Given the description of an element on the screen output the (x, y) to click on. 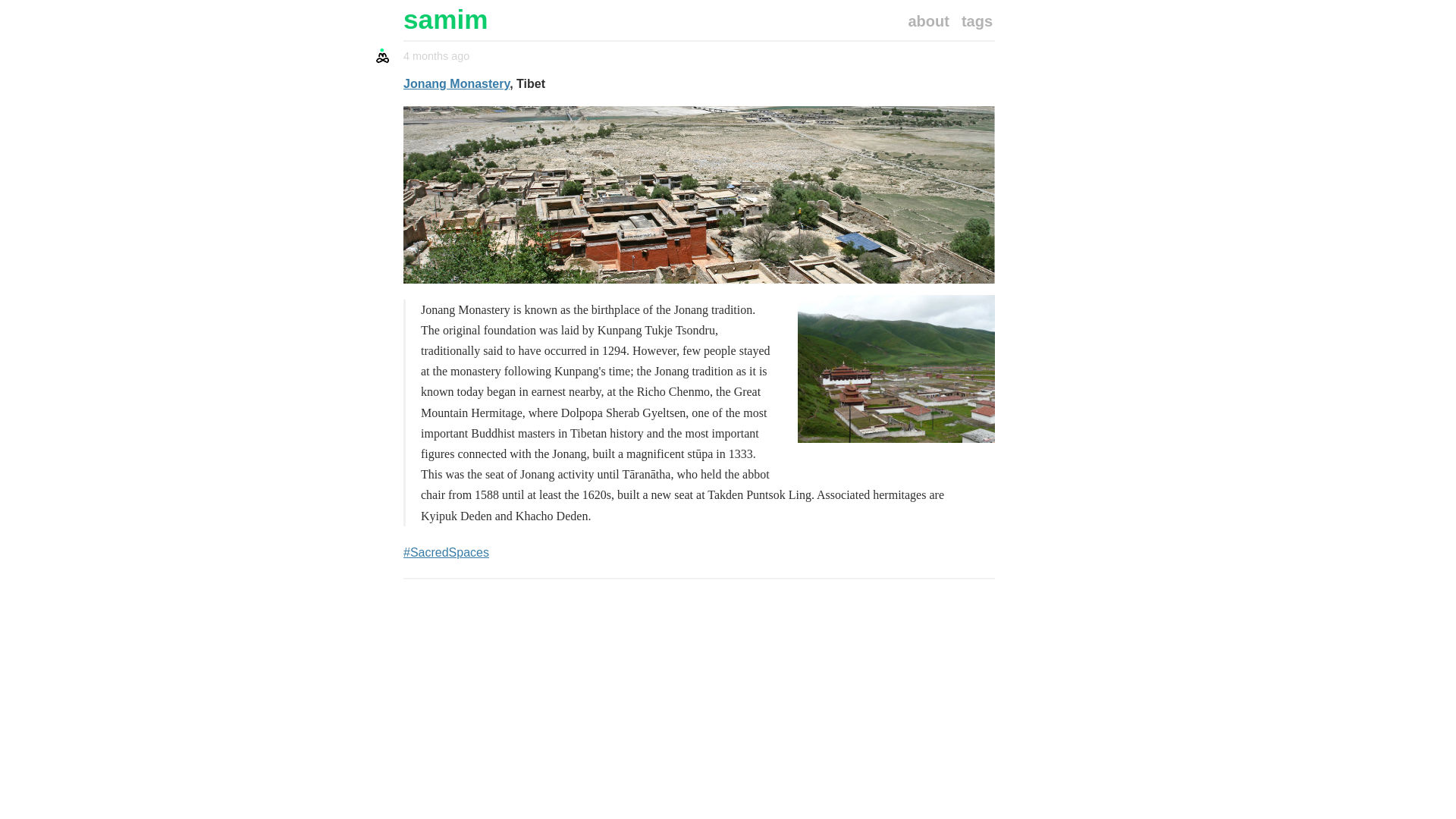
about (928, 21)
Tags (976, 21)
Jonang Monastery (456, 83)
About (928, 21)
samim (698, 20)
tags (976, 21)
